Given the description of an element on the screen output the (x, y) to click on. 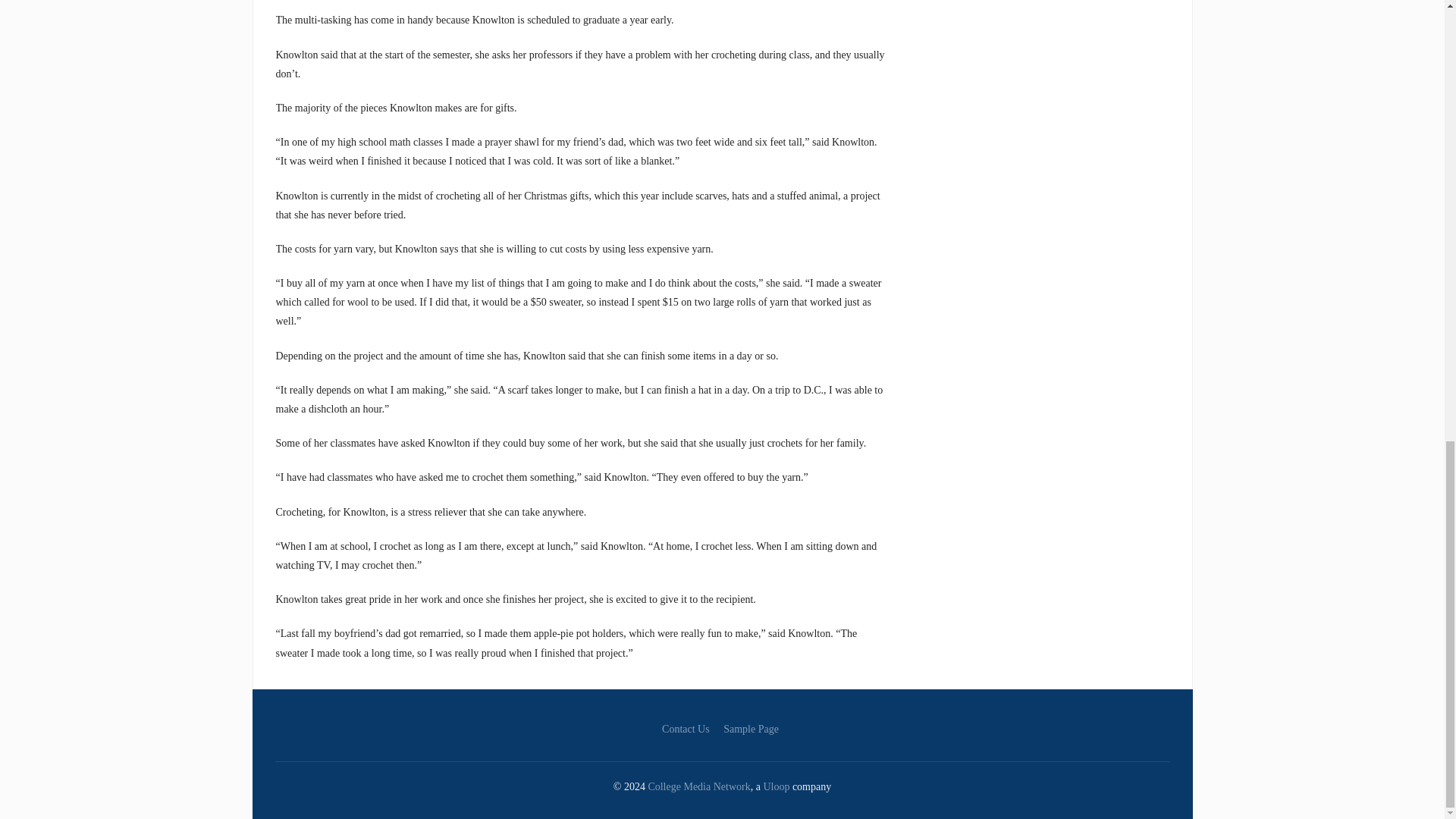
Sample Page (750, 728)
Contact Us (686, 728)
Uloop (775, 786)
College Media Network (698, 786)
